Given the description of an element on the screen output the (x, y) to click on. 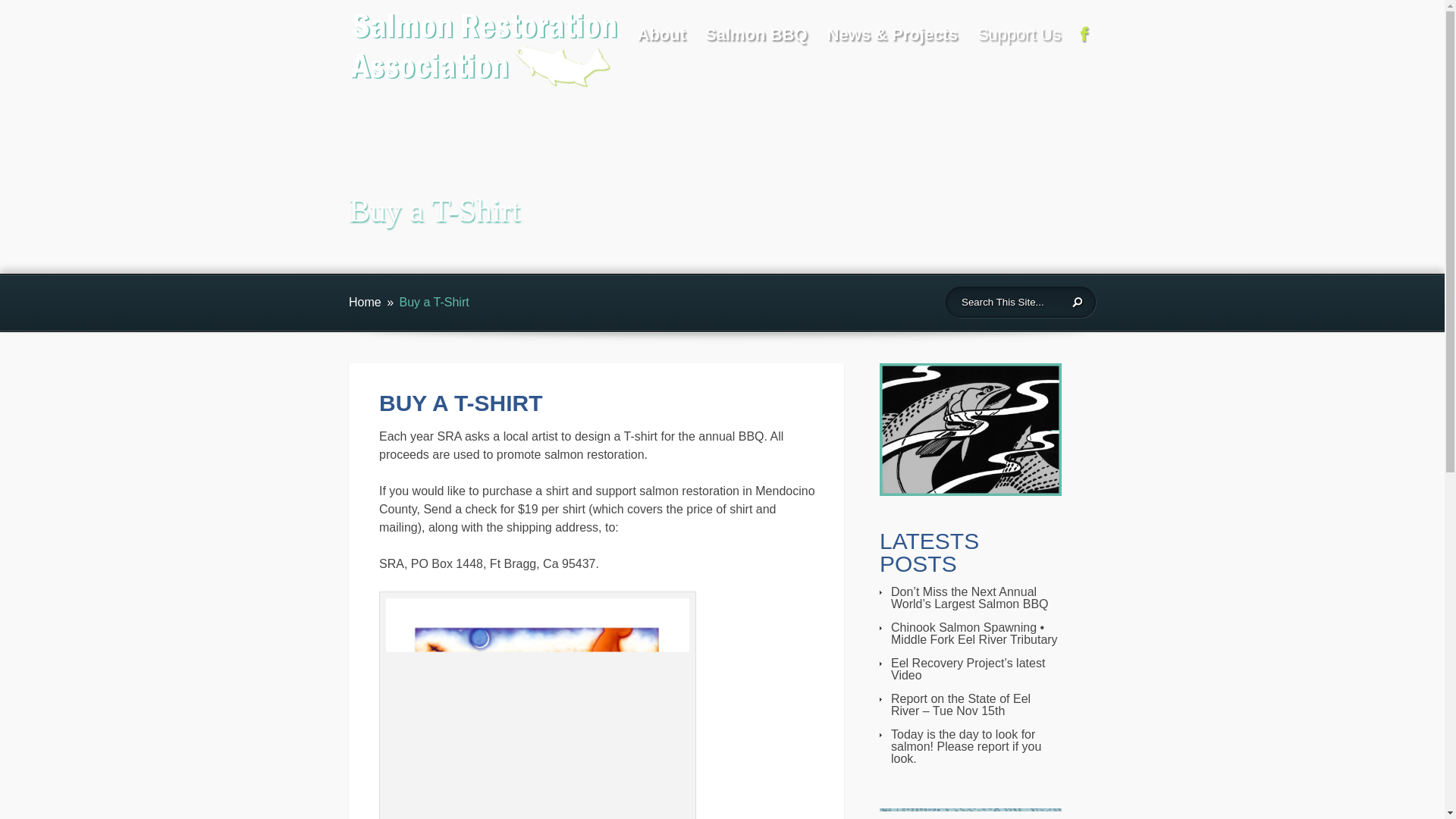
Home (365, 301)
Support Us (1018, 38)
Search This Site... (1007, 301)
Salmon BBQ (755, 38)
About (661, 38)
